Given the description of an element on the screen output the (x, y) to click on. 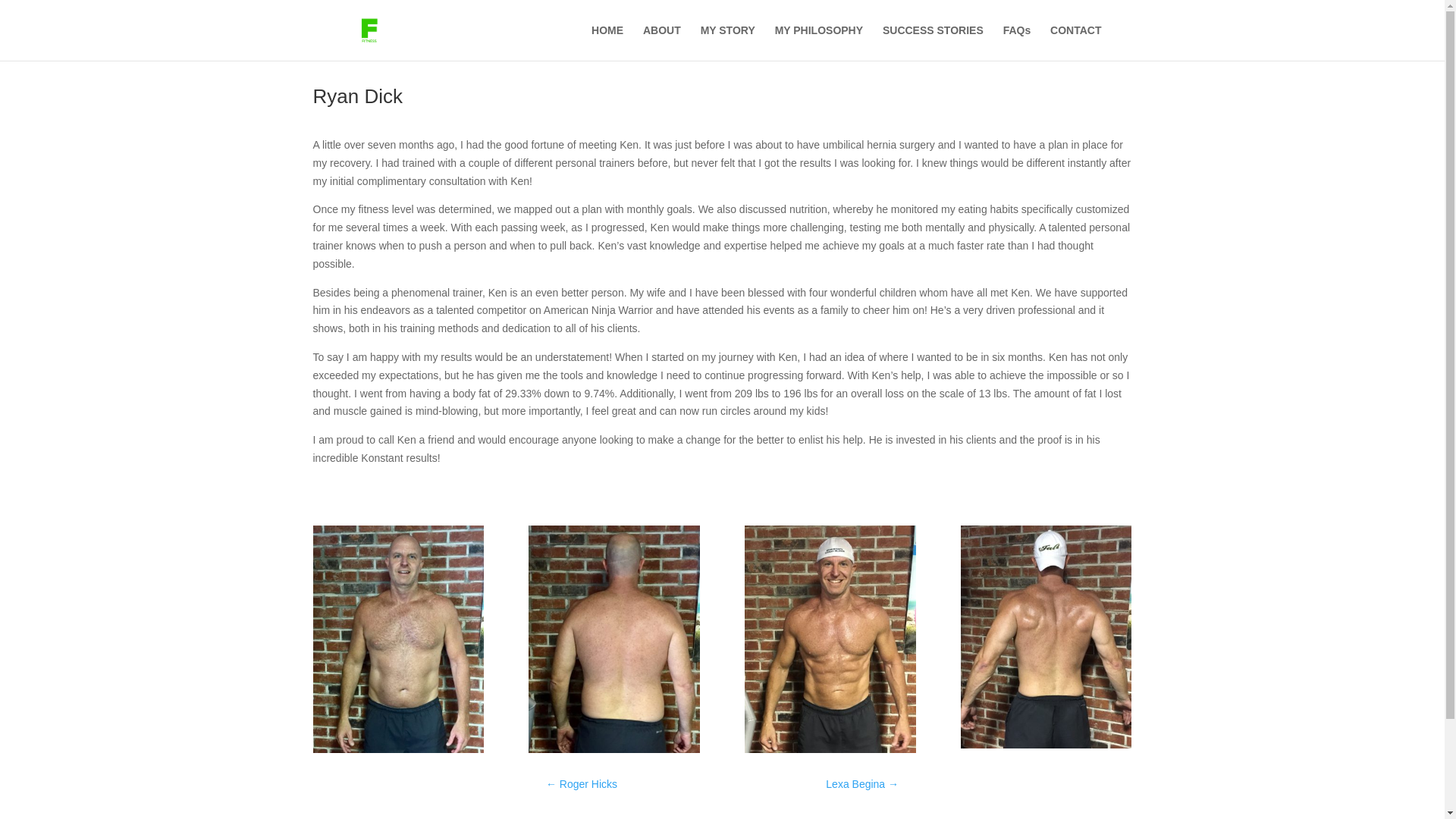
SUCCESS STORIES (933, 42)
ABOUT (662, 42)
MY STORY (727, 42)
MY PHILOSOPHY (818, 42)
HOME (607, 42)
CONTACT (1074, 42)
